Given the description of an element on the screen output the (x, y) to click on. 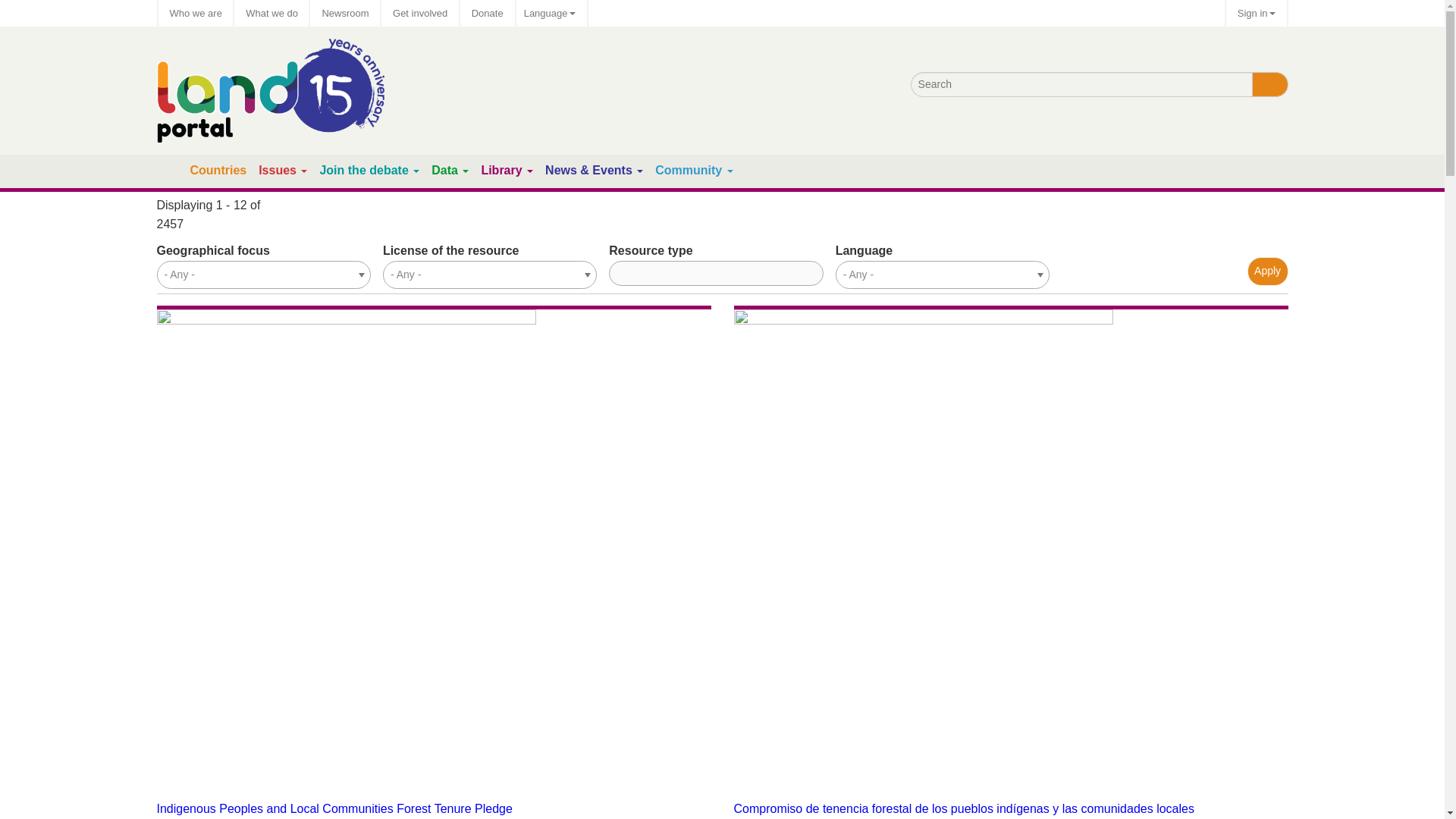
Newsroom (345, 13)
Get involved (419, 13)
Issues (278, 169)
Who we are (194, 13)
Home (169, 171)
Search (1268, 84)
Countries (217, 169)
What we do (271, 13)
Join the Debate (362, 169)
Search (1268, 84)
